Given the description of an element on the screen output the (x, y) to click on. 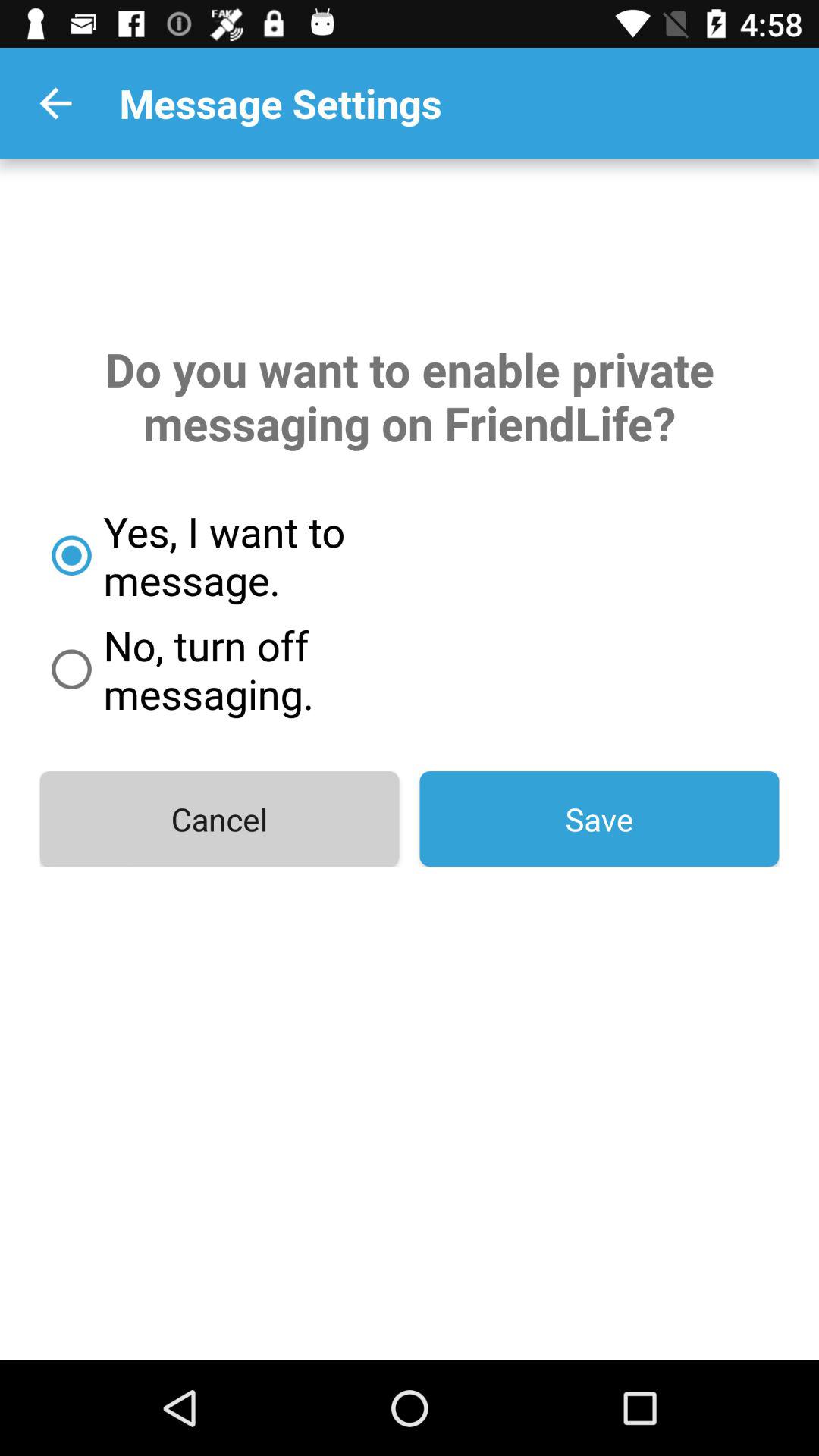
press item above do you want icon (55, 103)
